Given the description of an element on the screen output the (x, y) to click on. 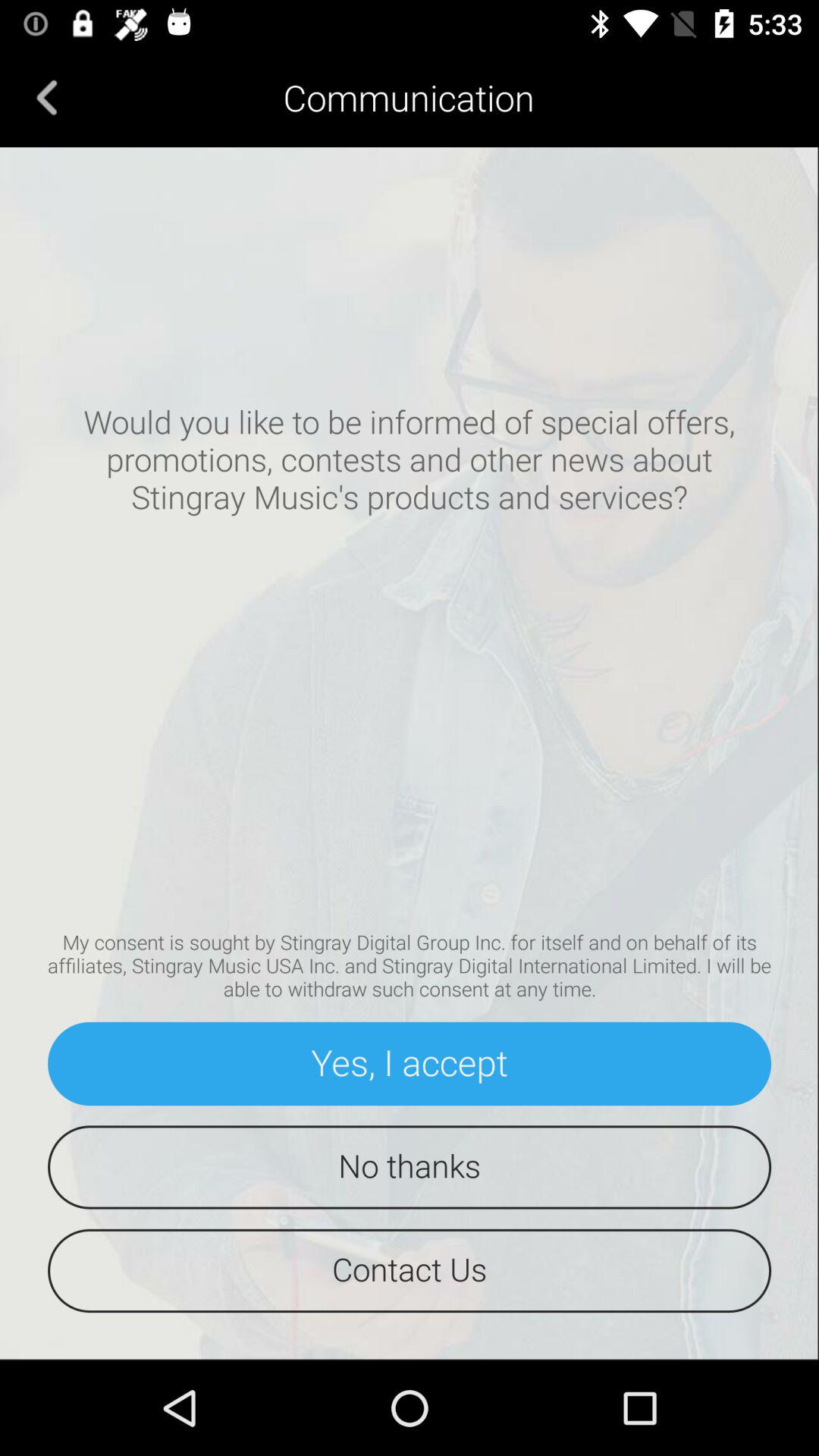
press item at the top left corner (47, 97)
